Given the description of an element on the screen output the (x, y) to click on. 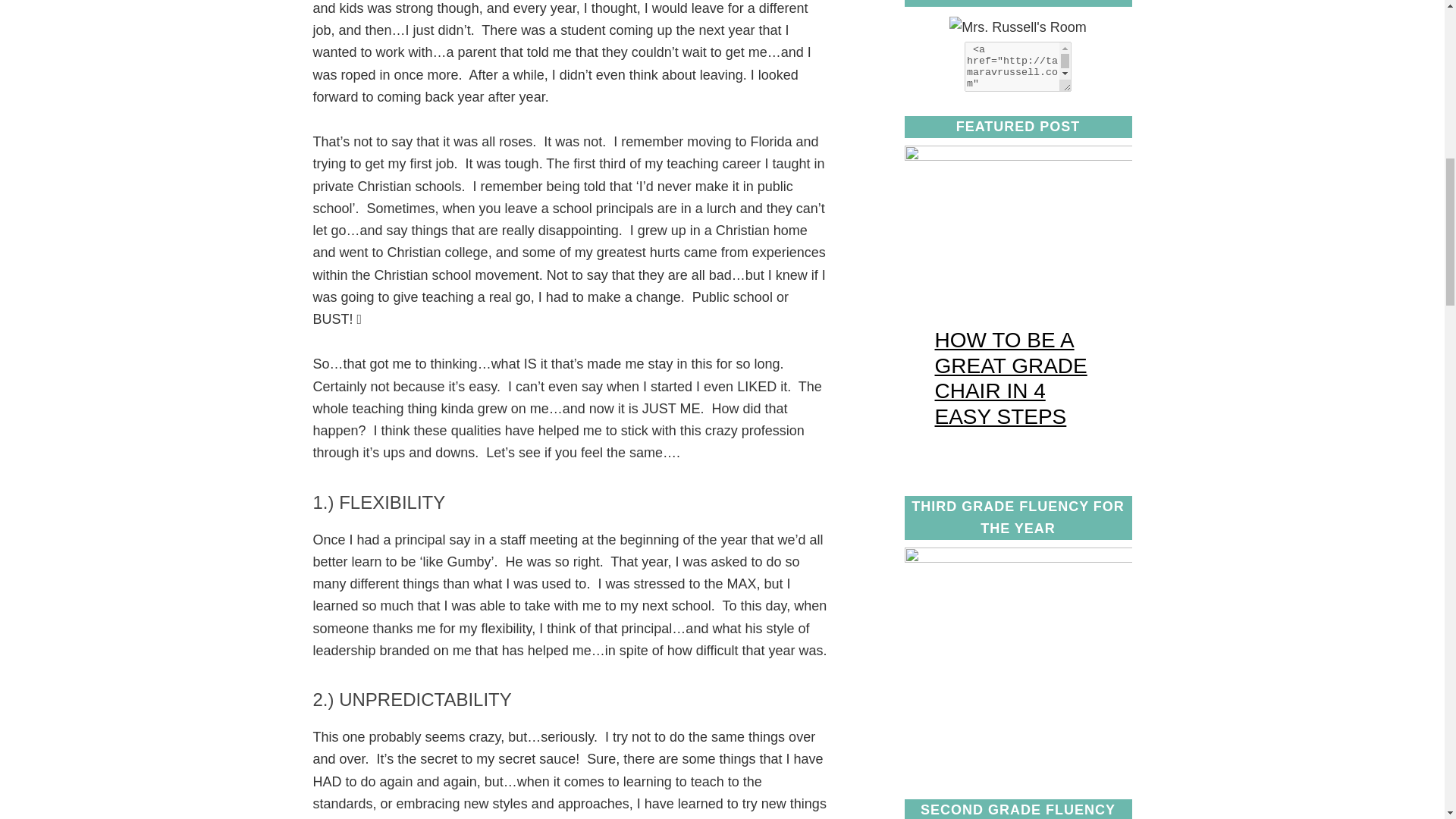
How to be a Great Grade Chair in 4 Easy Steps (1017, 155)
